Given the description of an element on the screen output the (x, y) to click on. 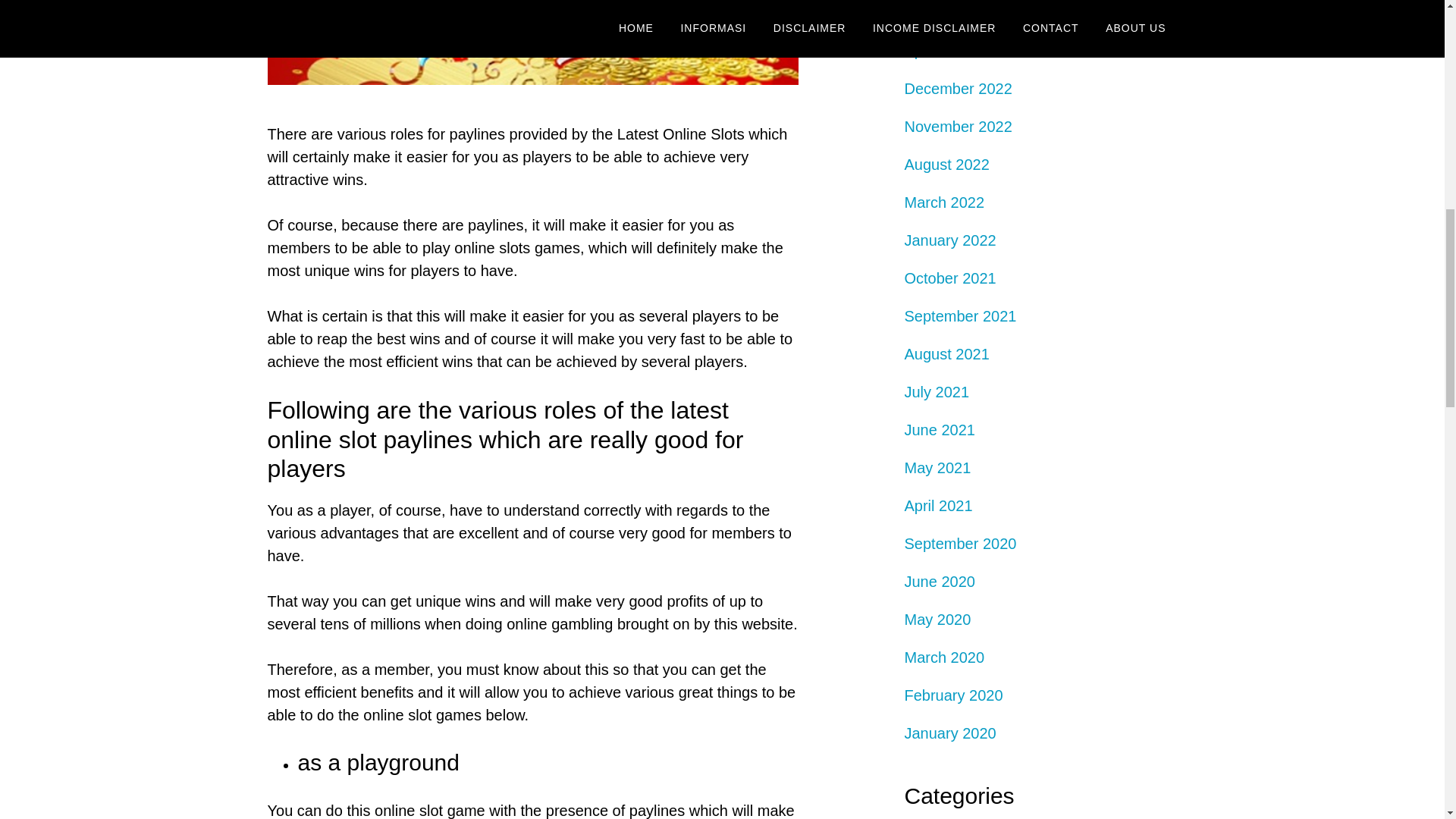
April 2023 (938, 50)
December 2022 (957, 88)
November 2022 (957, 126)
September 2023 (960, 12)
